Given the description of an element on the screen output the (x, y) to click on. 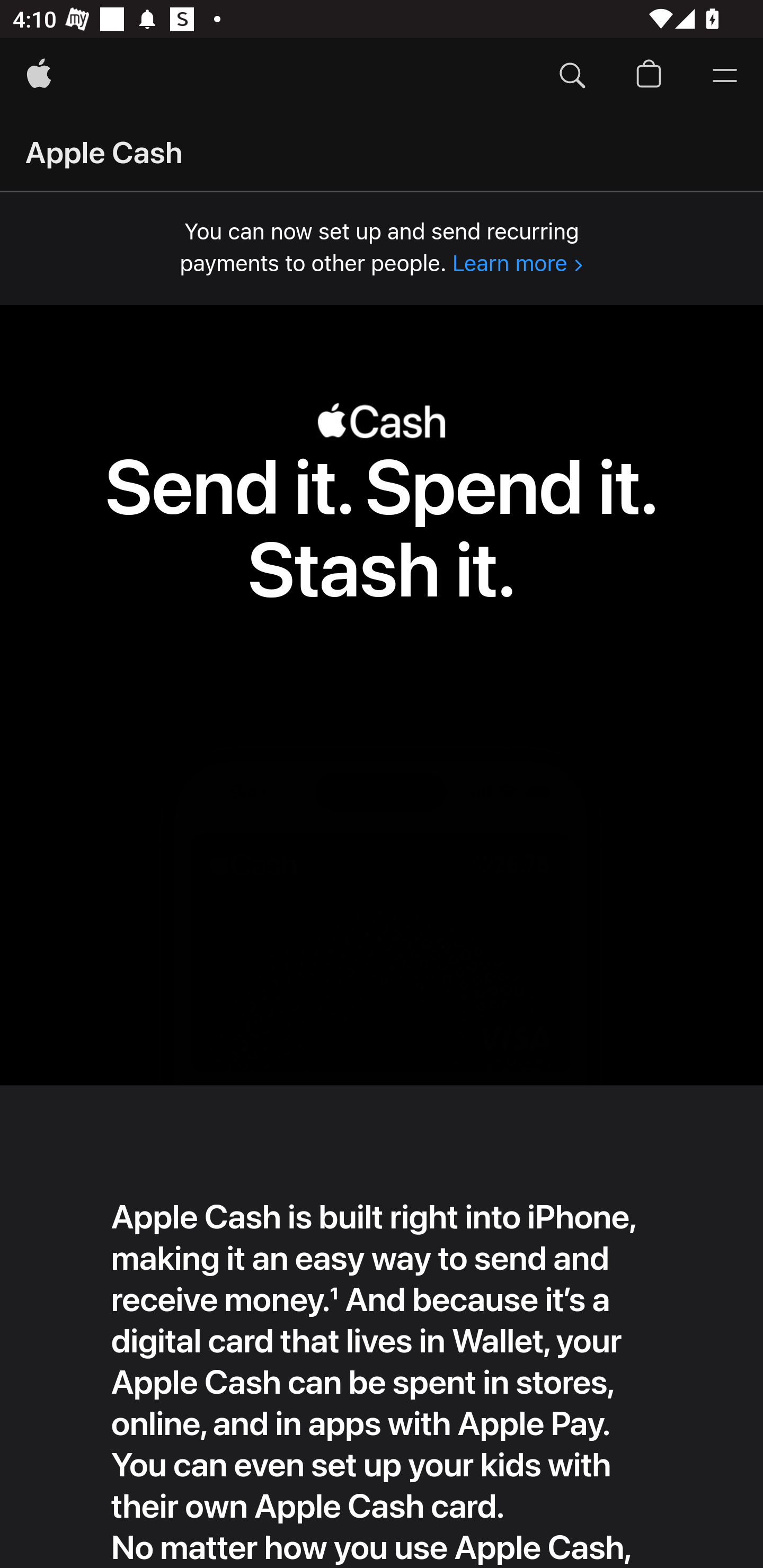
Apple (38, 75)
Search apple.com (572, 75)
Shopping Bag (648, 75)
Menu (724, 75)
Apple Cash (104, 151)
Learn more, recurring payments. Learn more  (517, 263)
